Given the description of an element on the screen output the (x, y) to click on. 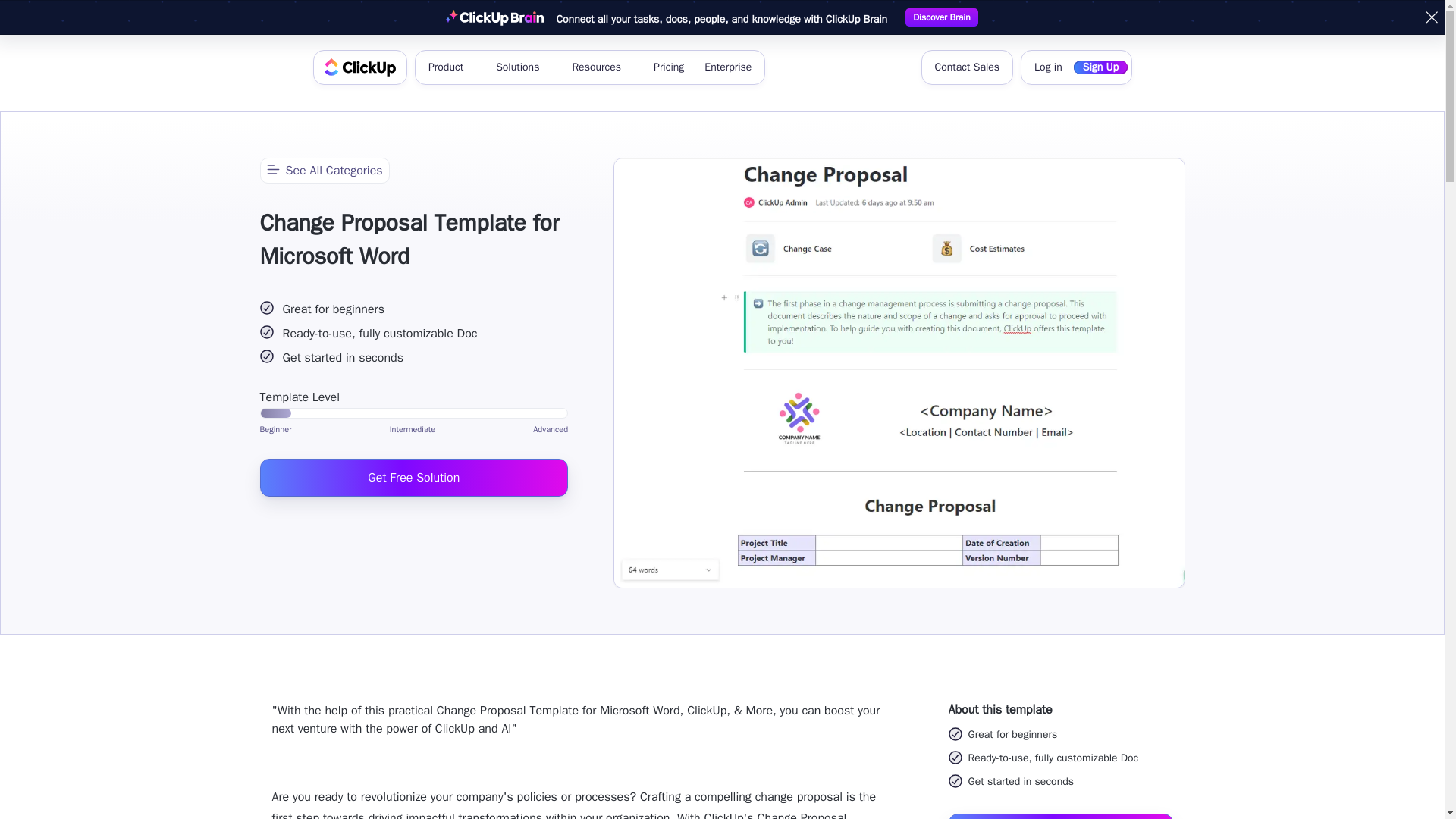
Contact Sales (966, 67)
Solutions (523, 67)
Log in (1048, 67)
Discover Brain (940, 17)
Get Free Solution (413, 476)
Resources (602, 67)
Sign Up (1099, 67)
Product (451, 67)
Enterprise (727, 67)
Get Free Solution (1059, 816)
See All Categories (323, 170)
Pricing (669, 67)
Close banner (1431, 17)
